Given the description of an element on the screen output the (x, y) to click on. 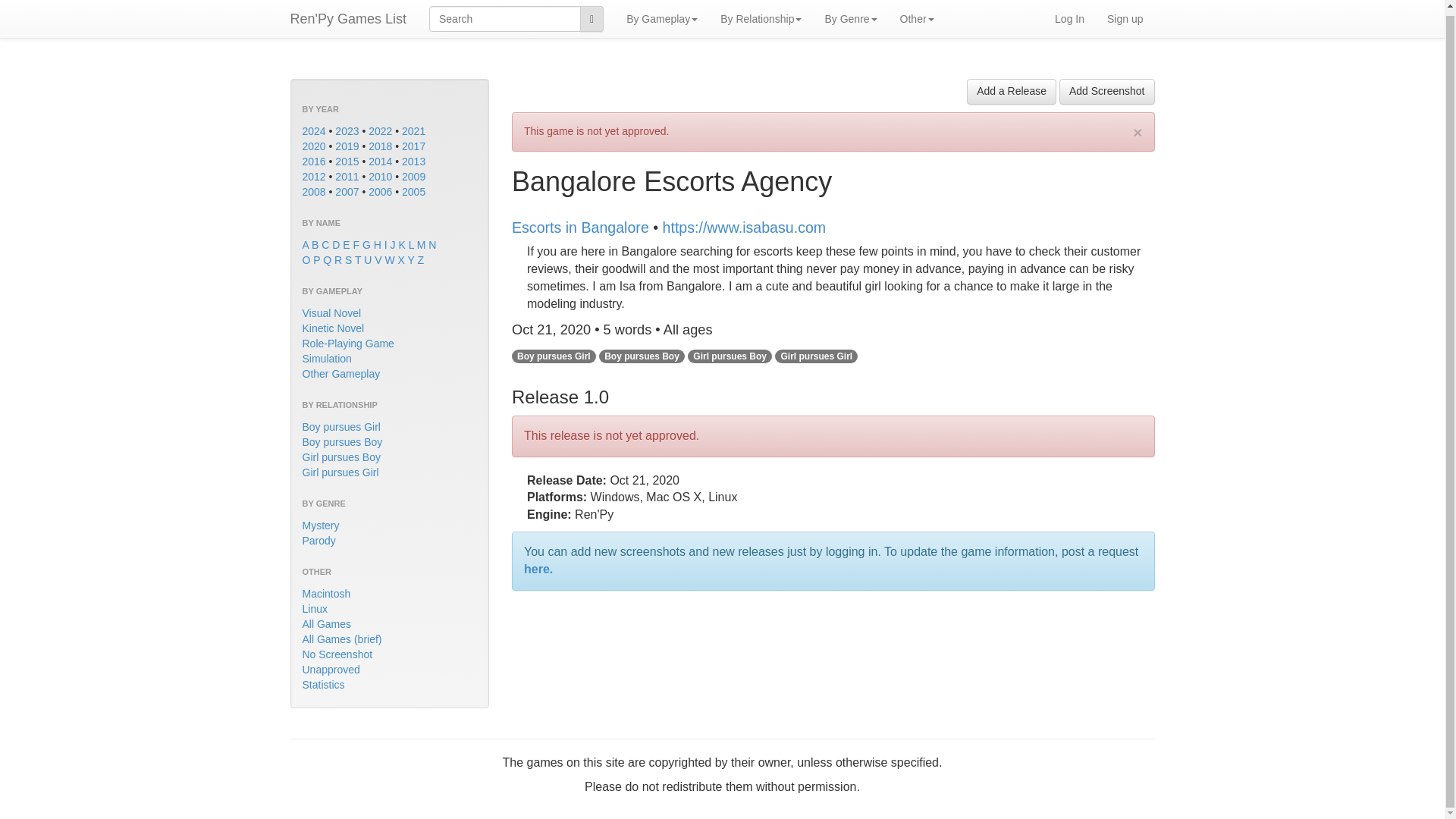
Sign up (1125, 16)
2024 (312, 131)
2019 (346, 146)
2014 (379, 161)
2012 (312, 176)
2022 (379, 131)
2018 (379, 146)
By Genre (850, 16)
Ren'Py Games List (349, 16)
By Relationship (760, 16)
2013 (413, 161)
2017 (413, 146)
2015 (346, 161)
2011 (346, 176)
2020 (312, 146)
